Given the description of an element on the screen output the (x, y) to click on. 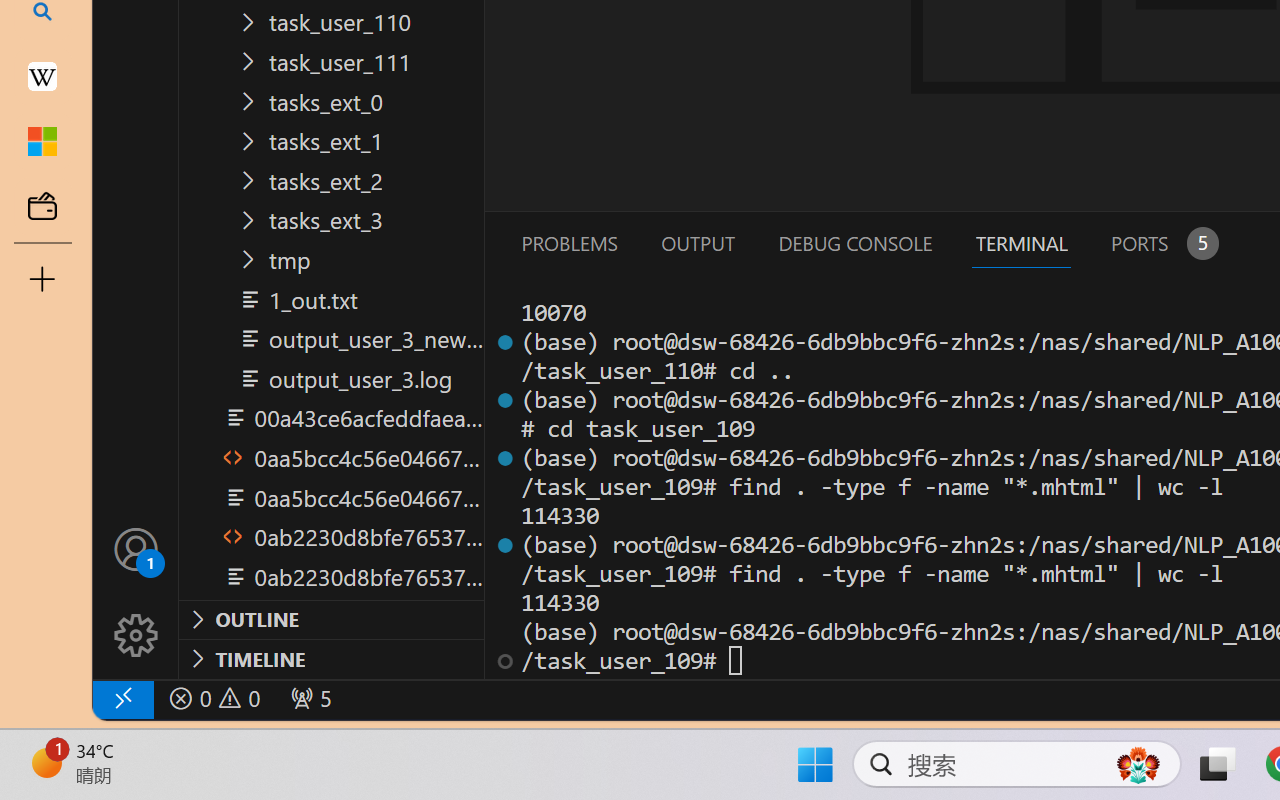
remote (122, 698)
Debug Console (Ctrl+Shift+Y) (854, 243)
Accounts - Sign in requested (135, 548)
